Given the description of an element on the screen output the (x, y) to click on. 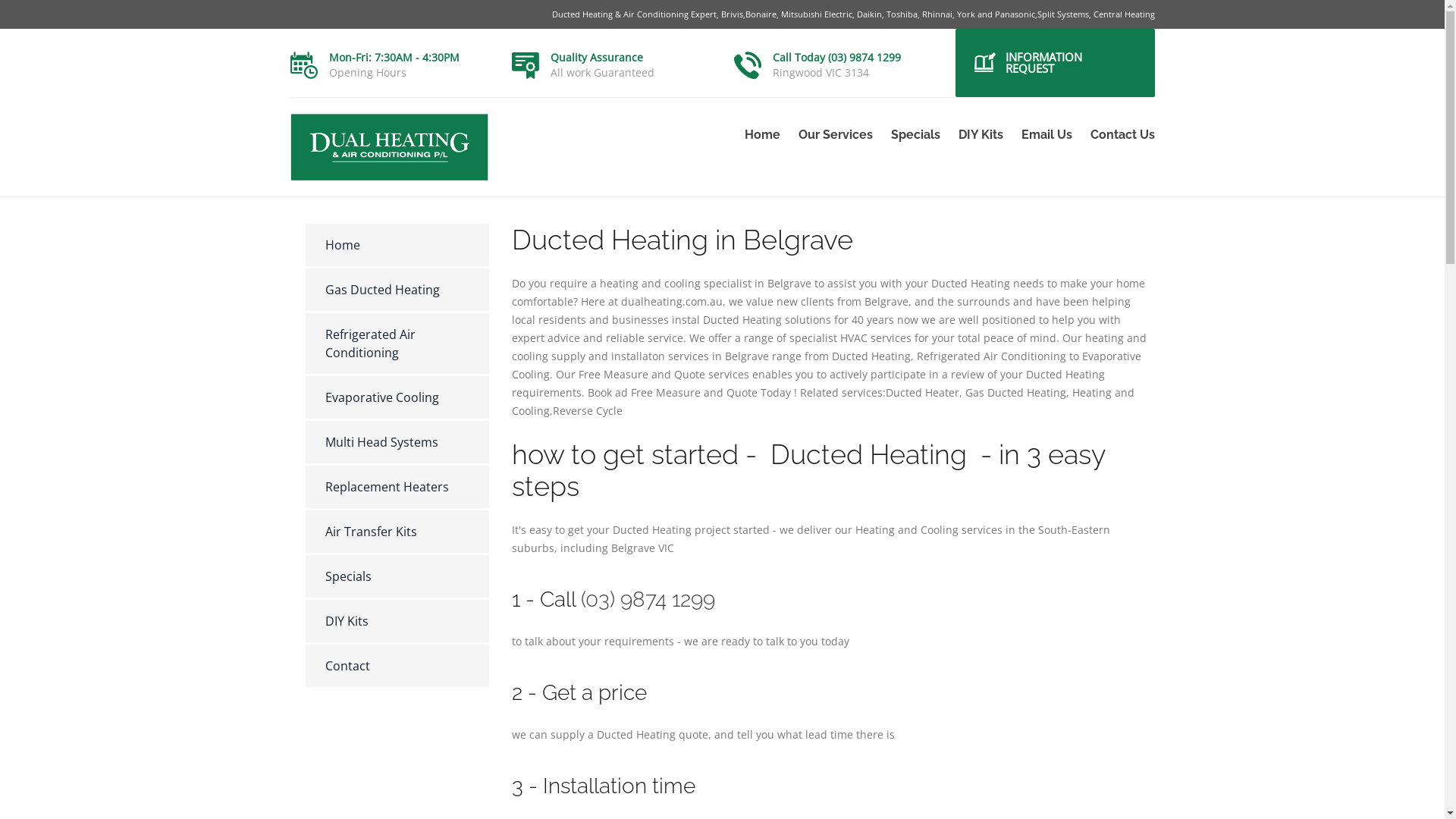
Refrigerated Air Conditioning Element type: text (396, 343)
Contact Us Element type: text (1117, 134)
Multi Head Systems Element type: text (396, 441)
Our Services Element type: text (834, 134)
Gas Ducted Heating Element type: text (396, 289)
Email Us Element type: text (1045, 134)
Specials Element type: text (396, 576)
DIY Kits Element type: text (980, 134)
Evaporative Cooling Element type: text (396, 397)
Contact Element type: text (396, 665)
Specials Element type: text (914, 134)
Home Element type: text (396, 244)
Home Element type: text (762, 134)
Air Transfer Kits Element type: text (396, 531)
(03) 9874 1299 Element type: text (647, 598)
logo2 Element type: hover (388, 146)
DIY Kits Element type: text (396, 620)
INFORMATION REQUEST Element type: text (1054, 62)
Replacement Heaters Element type: text (396, 486)
